Given the description of an element on the screen output the (x, y) to click on. 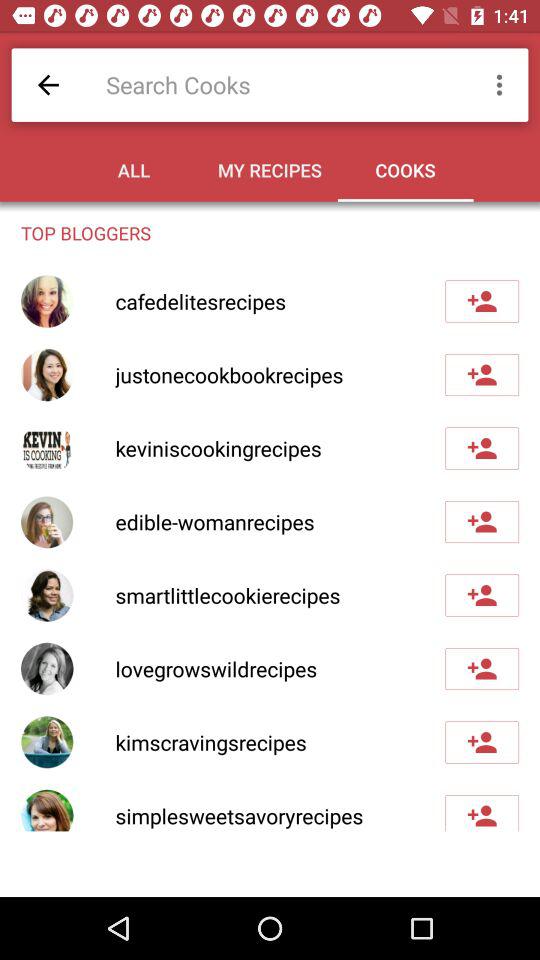
return to previous (48, 84)
